Given the description of an element on the screen output the (x, y) to click on. 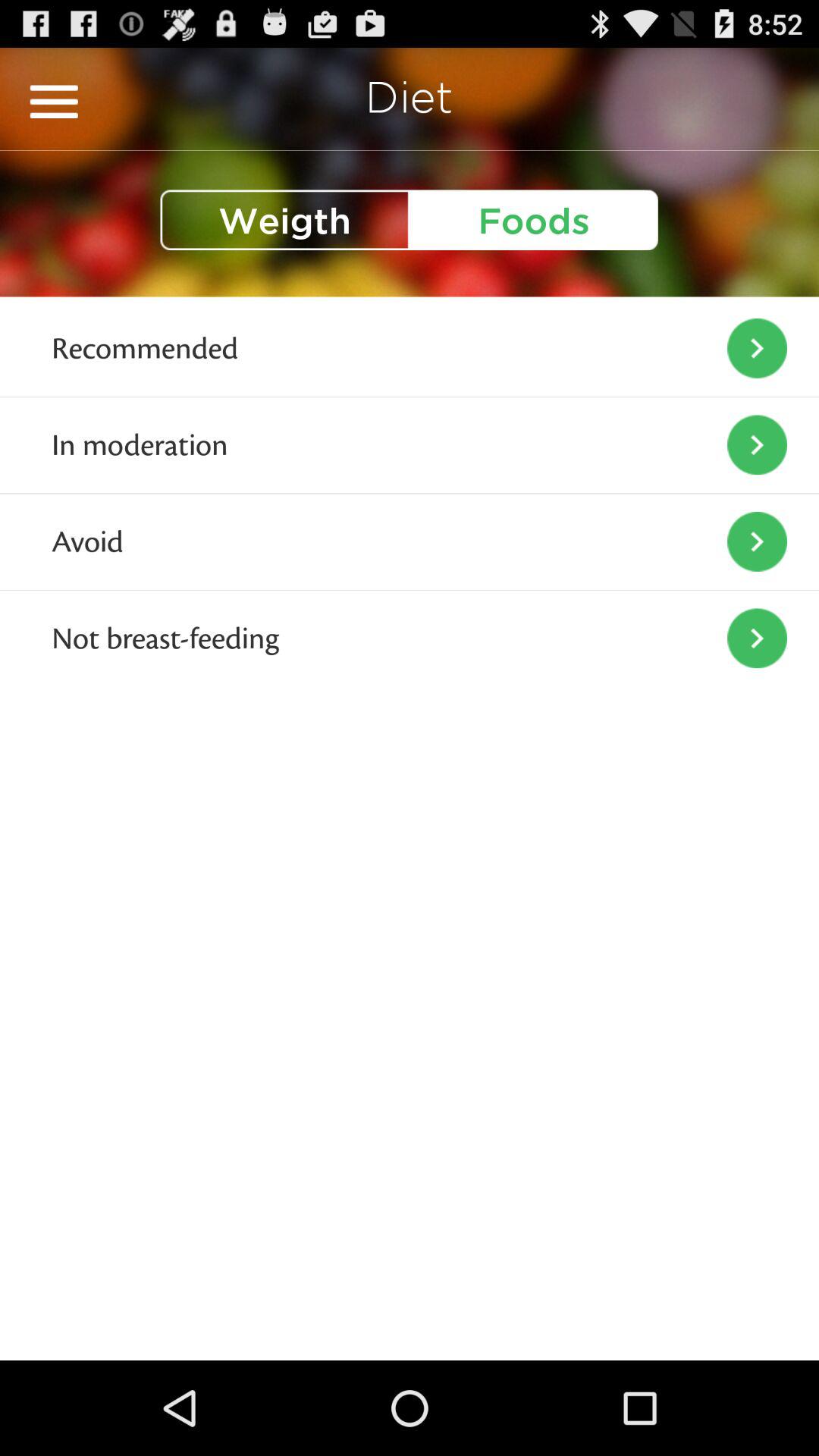
icon right to the text avoid (757, 542)
the menu button at top left corner of the page (53, 101)
